Given the description of an element on the screen output the (x, y) to click on. 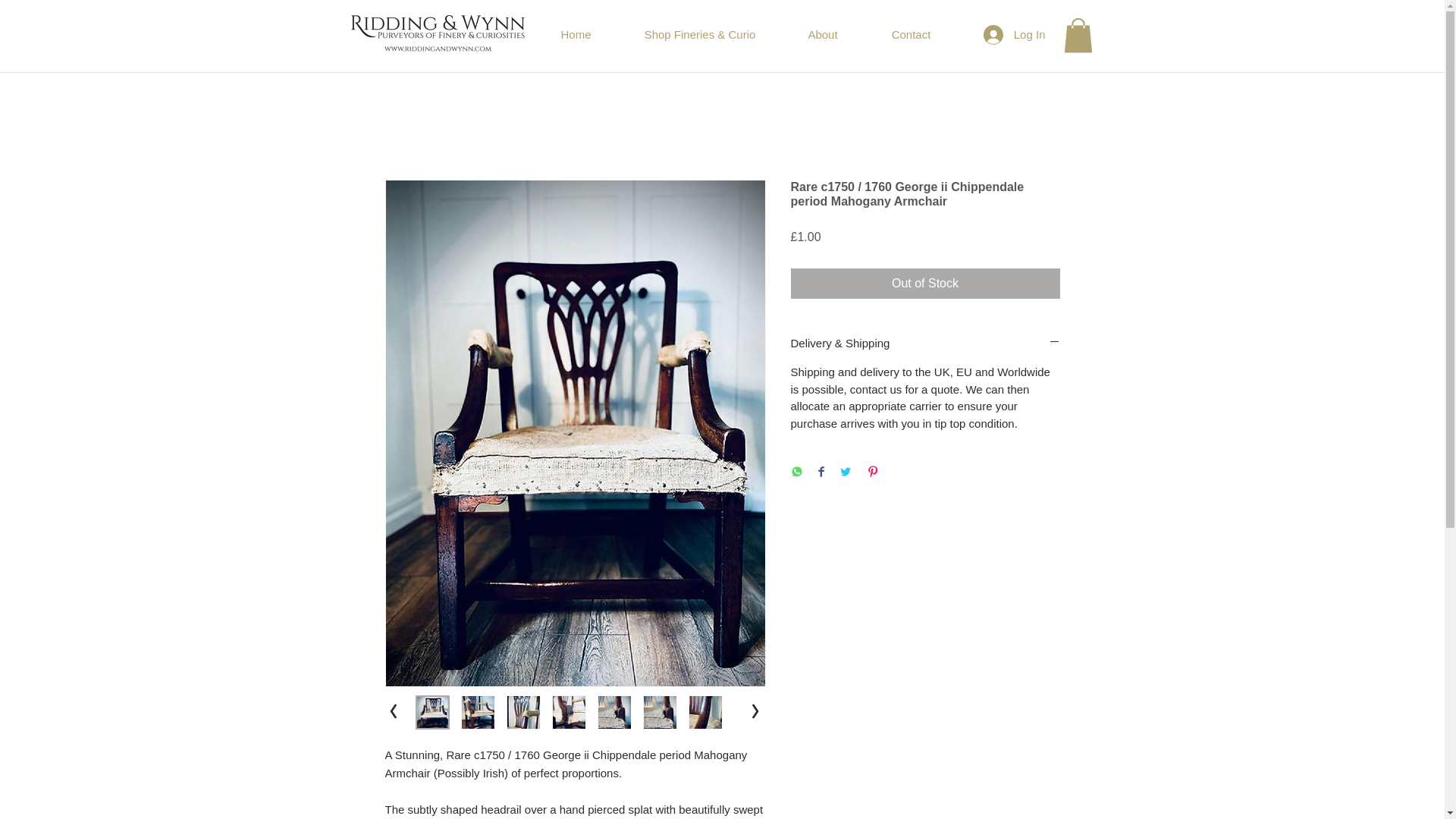
Log In (1014, 33)
Out of Stock (924, 283)
Home (575, 33)
Contact (910, 33)
About (823, 33)
